Given the description of an element on the screen output the (x, y) to click on. 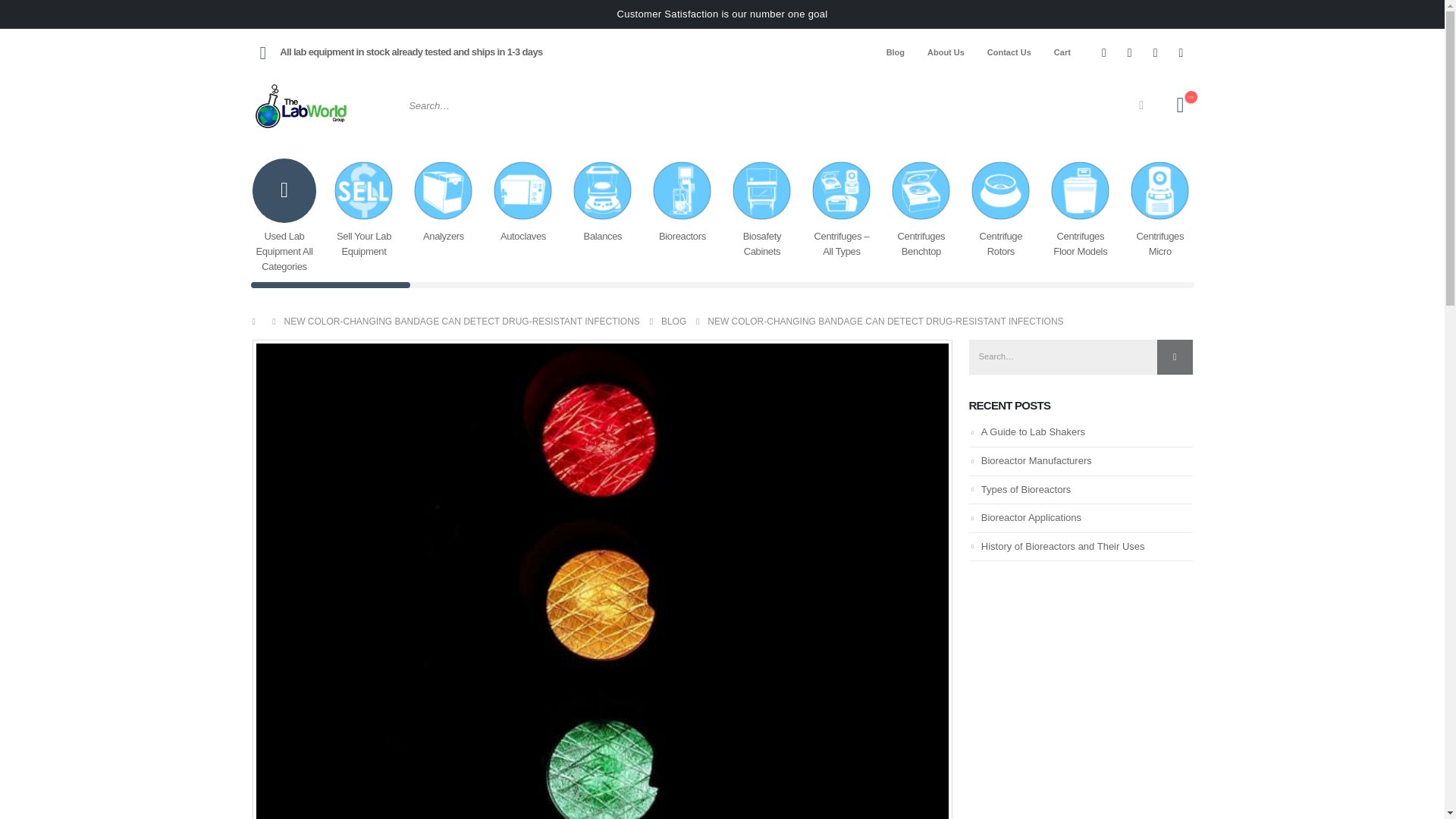
About Us (945, 52)
Twitter (1129, 52)
The Lab World Group - Used Lab Equipment Sellers (300, 105)
Blog (895, 52)
Instagram (1155, 52)
Cart (1061, 52)
Contact Us (1008, 52)
Facebook (1104, 52)
Search (1141, 104)
LinkedIn (1181, 52)
